Given the description of an element on the screen output the (x, y) to click on. 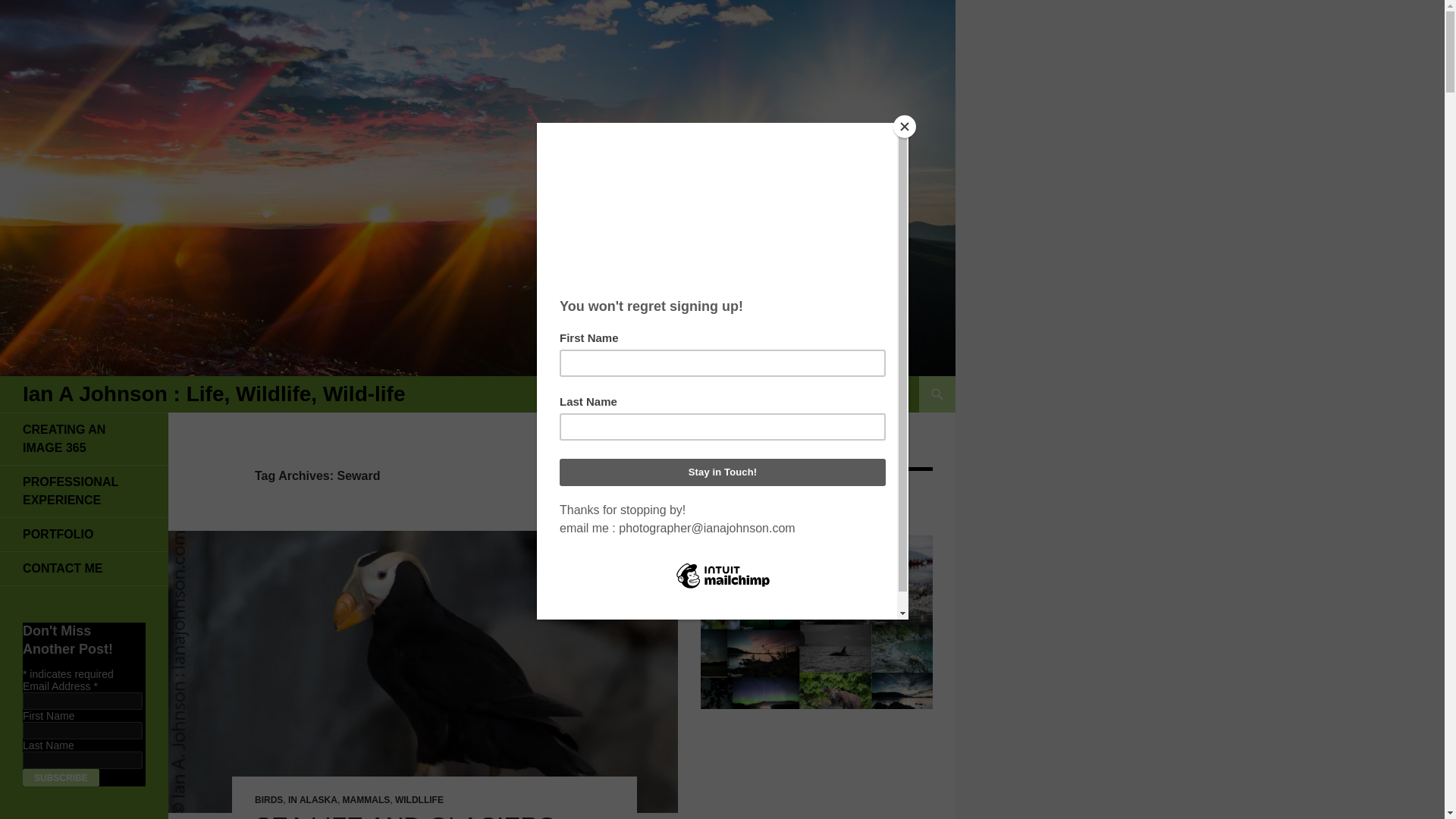
VIDEOS (802, 393)
WELCOME (876, 393)
Ian A Johnson : Life, Wildlife, Wild-life (214, 393)
SEA LIFE AND GLACIERS : SEWARD, ALASKA (411, 815)
PURCHASE (591, 393)
GALLERY (675, 393)
IN ALASKA (312, 799)
MAMMALS (366, 799)
WILDLLIFE (419, 799)
BIRDS (268, 799)
BLOG (741, 393)
Subscribe (61, 777)
